Given the description of an element on the screen output the (x, y) to click on. 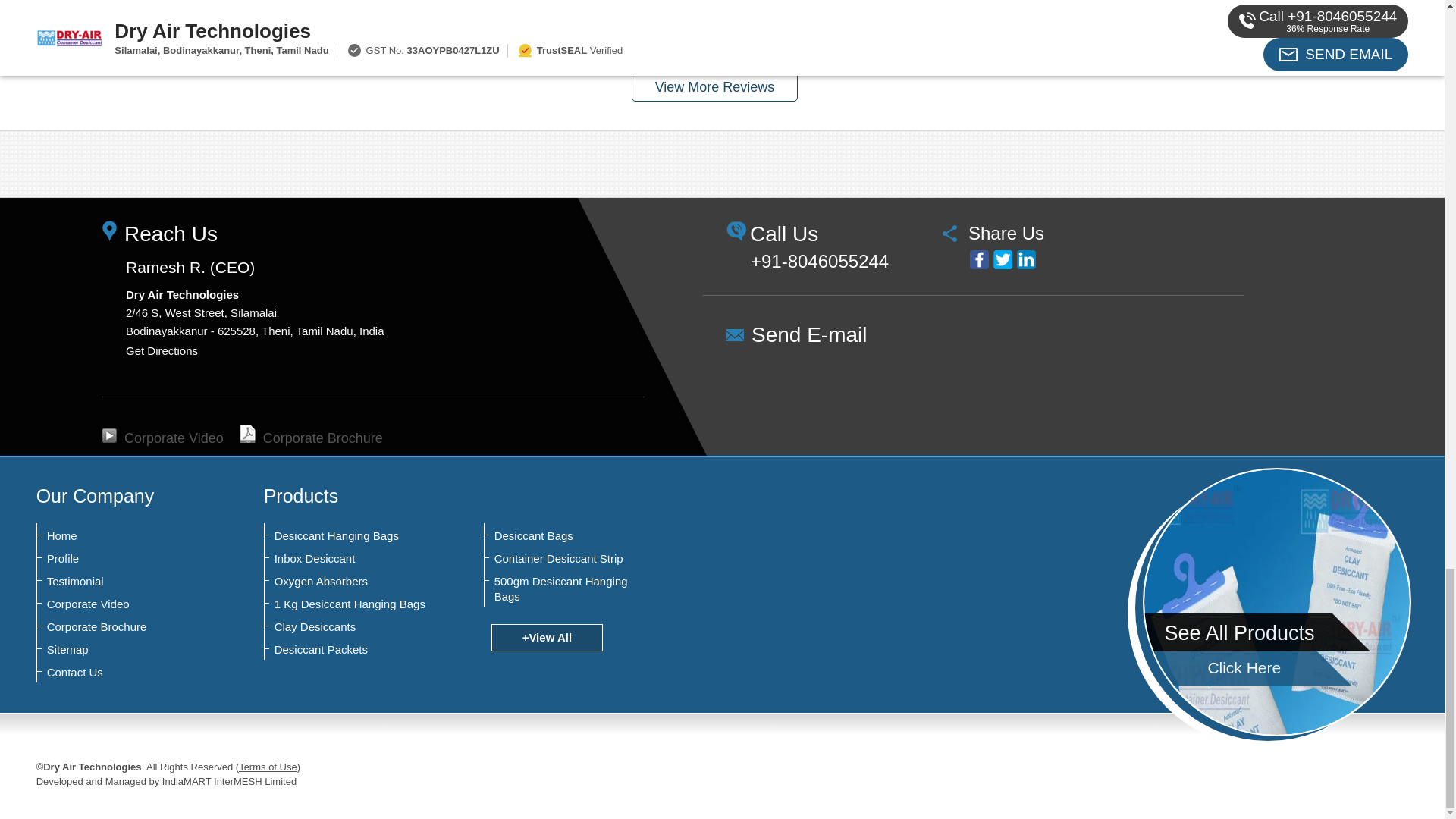
Corporate Video (121, 604)
Get Directions (161, 350)
LinkedIn (1025, 259)
Corporate Brochure (311, 437)
View More Reviews (714, 86)
Testimonial (121, 581)
Twitter (1001, 259)
Home (121, 535)
Facebook (978, 259)
Profile (121, 558)
Corporate Video (162, 437)
